Given the description of an element on the screen output the (x, y) to click on. 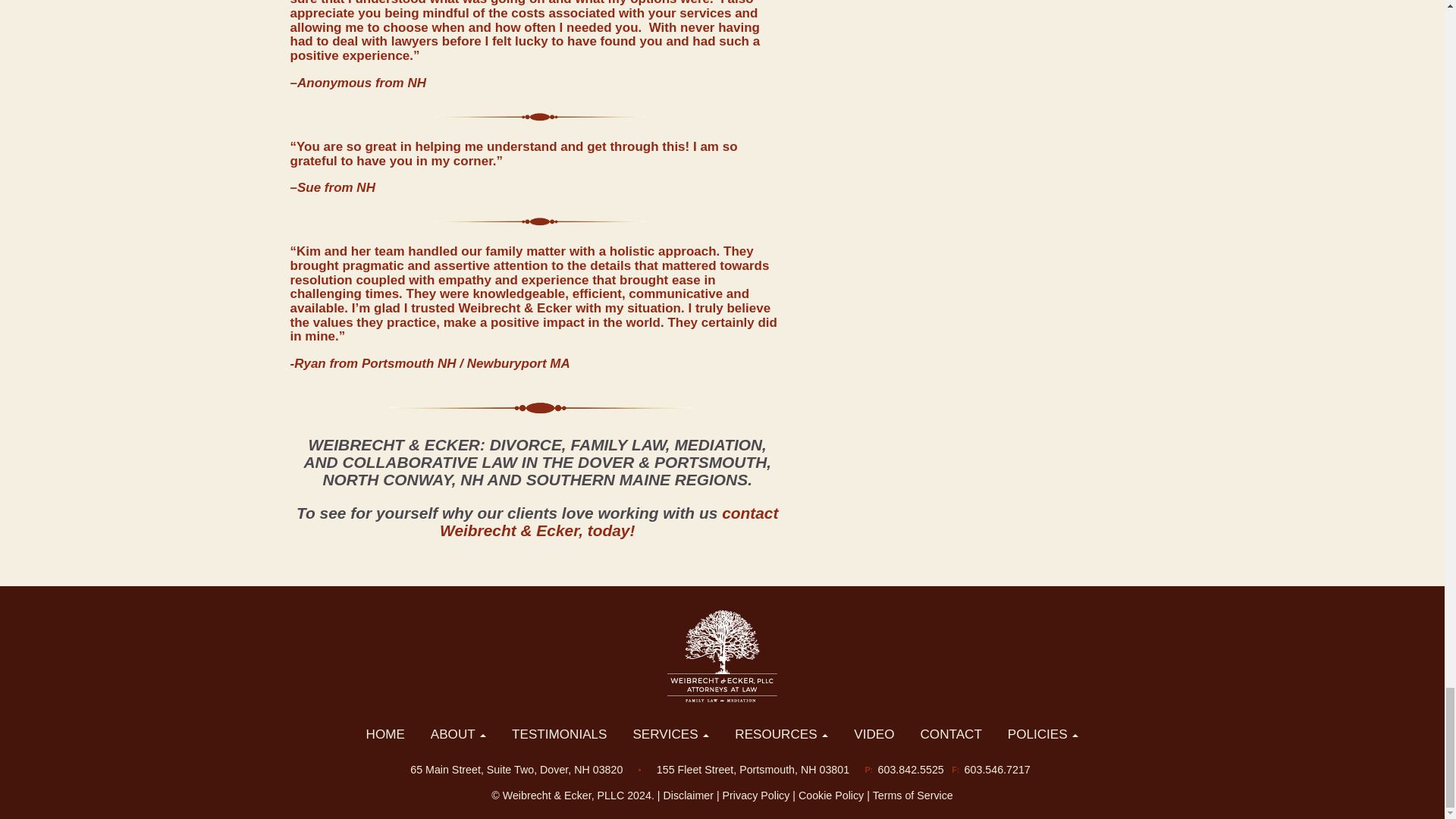
HOME (385, 734)
ABOUT (458, 734)
Contact (608, 521)
